Given the description of an element on the screen output the (x, y) to click on. 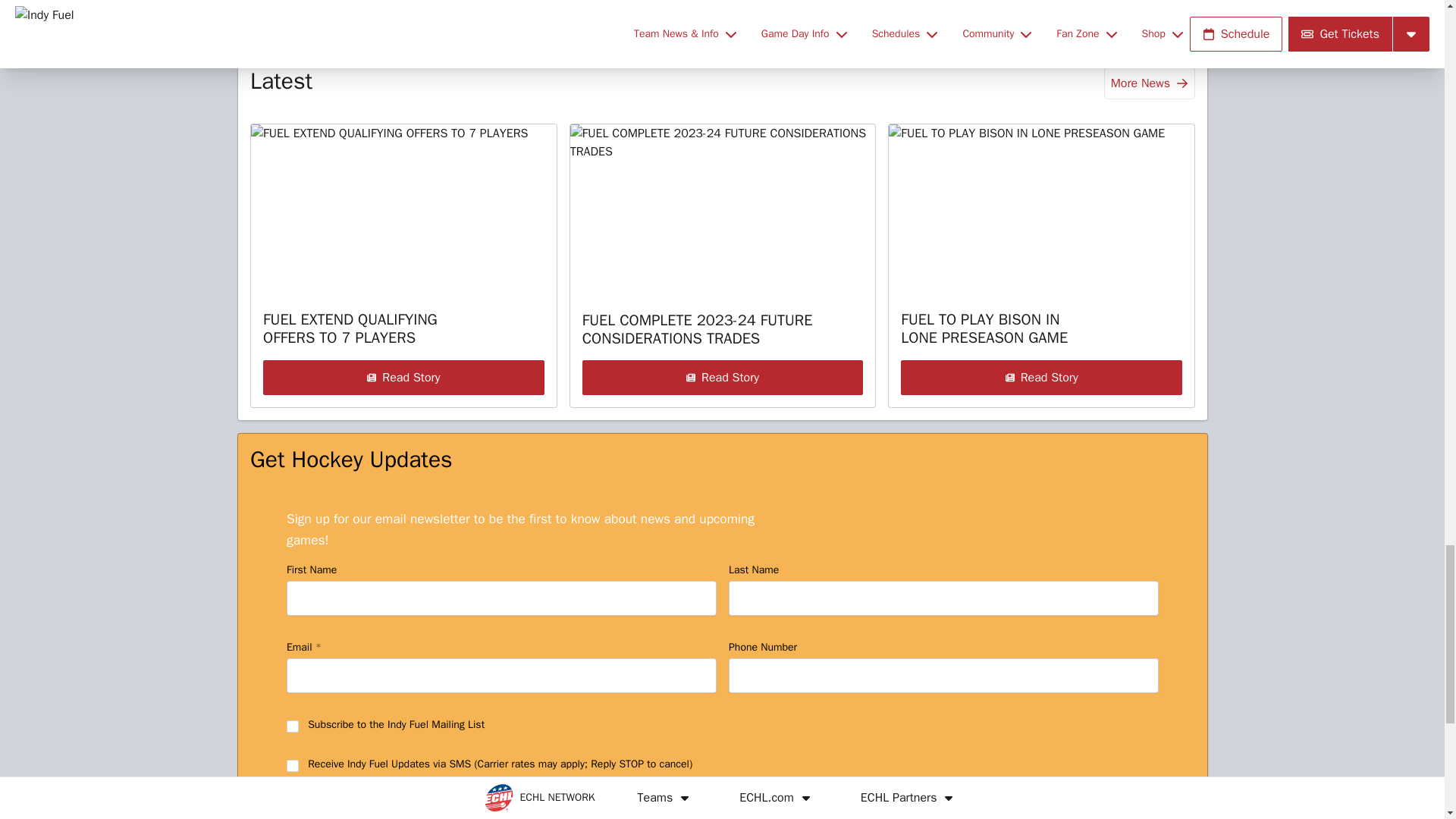
on (292, 726)
Required (317, 646)
on (292, 766)
